Given the description of an element on the screen output the (x, y) to click on. 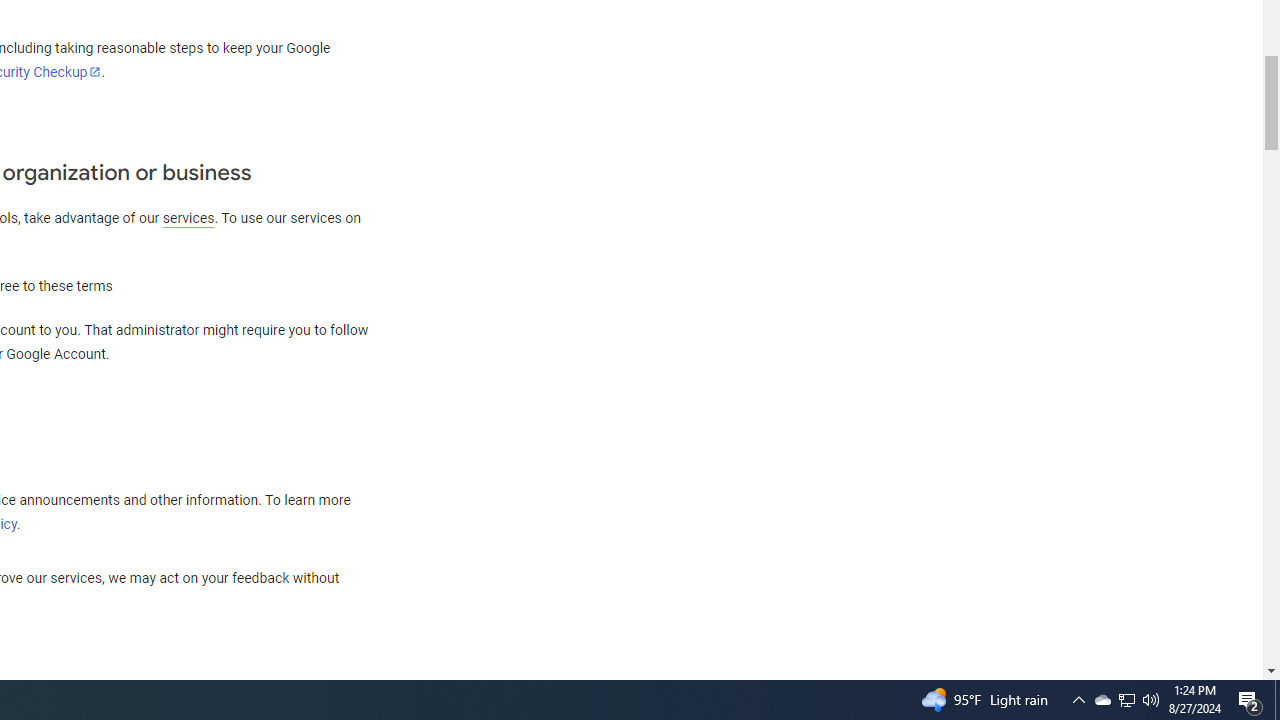
services (188, 218)
